Given the description of an element on the screen output the (x, y) to click on. 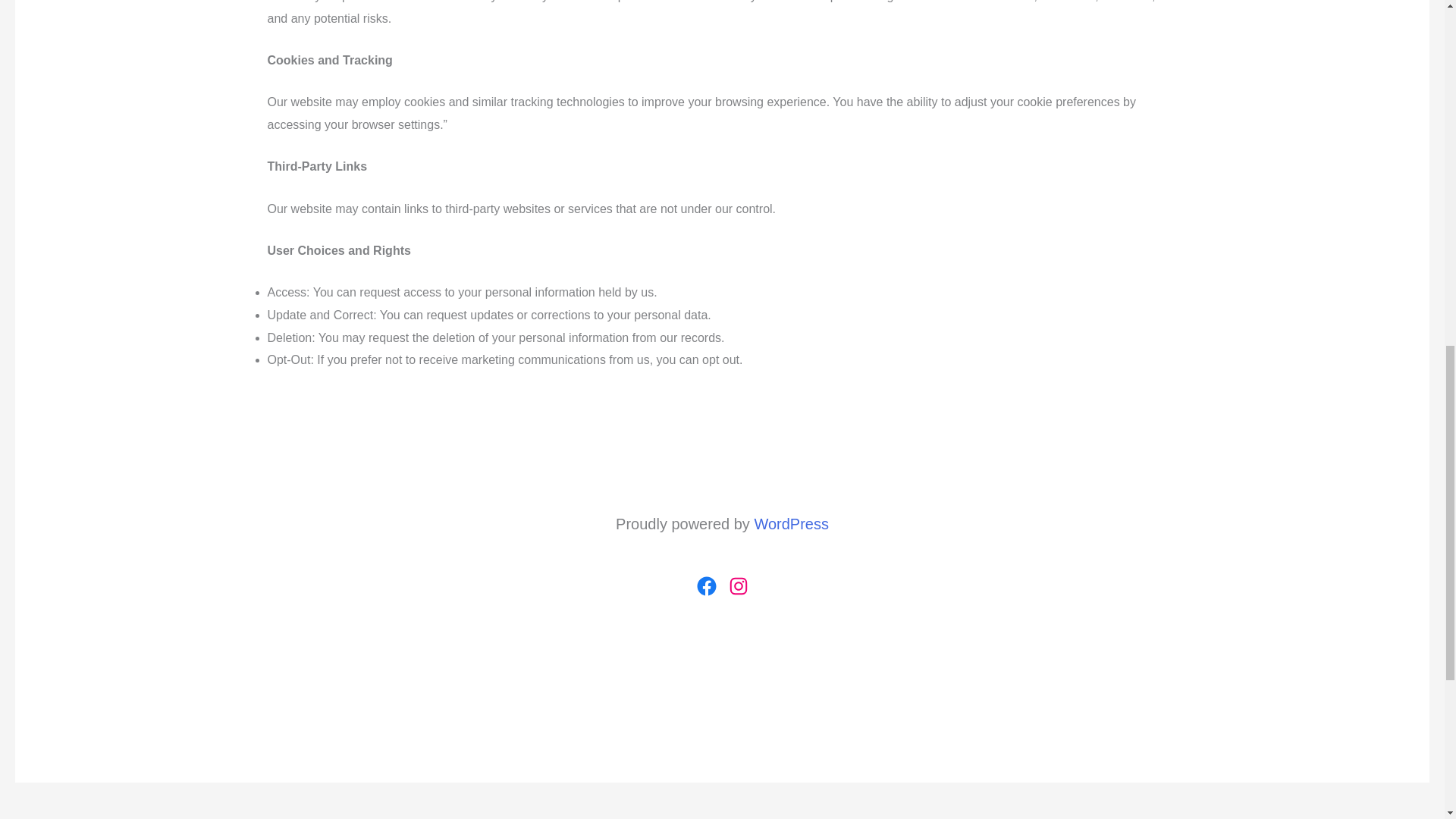
Facebook (705, 585)
Instagram (737, 585)
WordPress (791, 523)
